Given the description of an element on the screen output the (x, y) to click on. 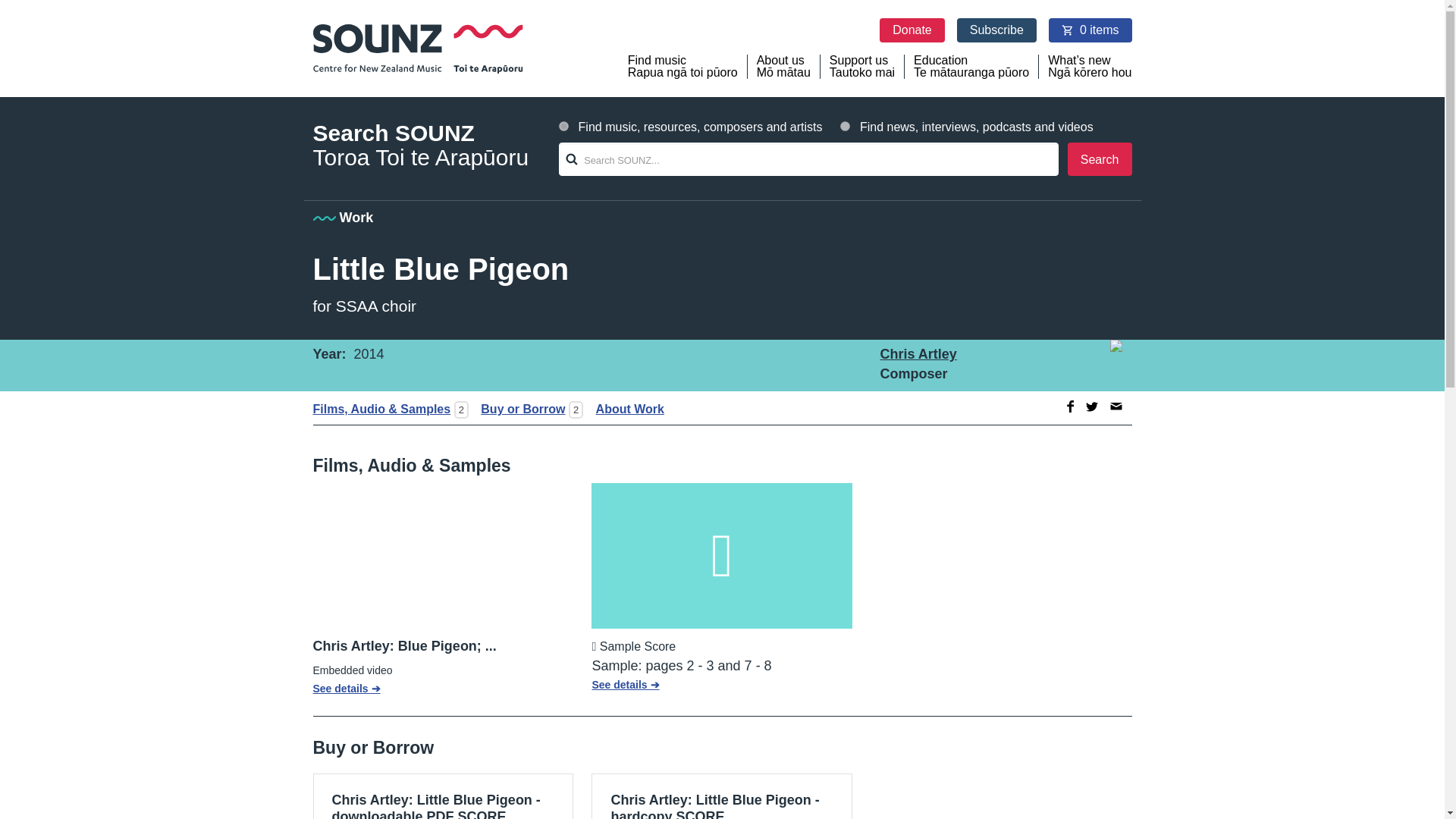
Search (1099, 159)
About Work (624, 408)
0 items (1090, 30)
Donate (911, 30)
Share to Twitter (1091, 406)
catalogue (862, 66)
content (564, 126)
